Given the description of an element on the screen output the (x, y) to click on. 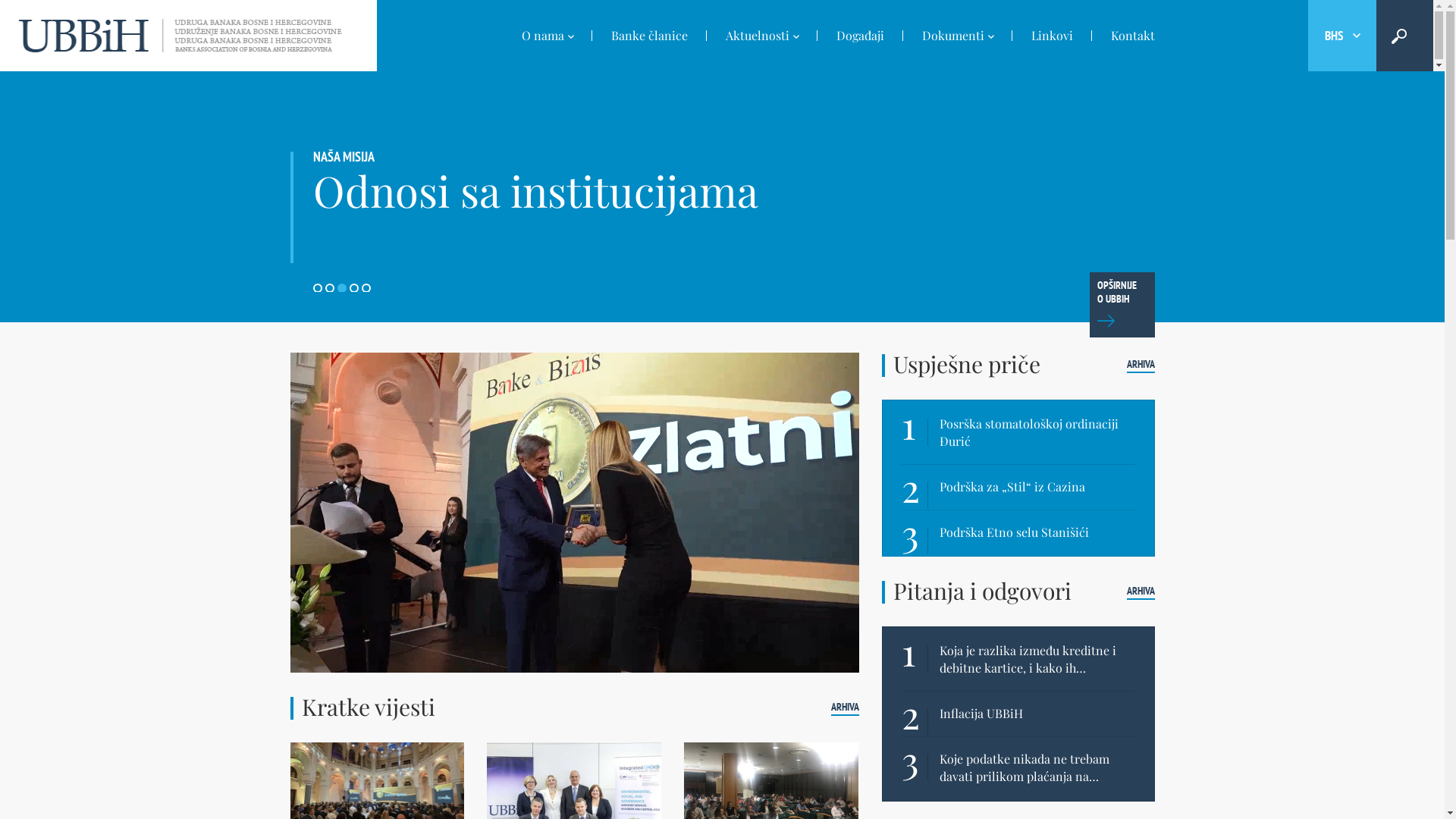
3 Element type: text (340, 287)
2 Element type: text (328, 287)
Kontakt Element type: text (1123, 35)
ARHIVA Element type: text (1140, 364)
4 Element type: text (352, 287)
5 Element type: text (365, 287)
ARHIVA Element type: text (845, 707)
Inflacija UBBiH Element type: text (1036, 713)
Linkovi Element type: text (1051, 35)
1 Element type: text (316, 287)
O nama Element type: text (546, 37)
ARHIVA Element type: text (1140, 591)
Aktuelnosti Element type: text (761, 37)
Dokumenti Element type: text (956, 37)
